Given the description of an element on the screen output the (x, y) to click on. 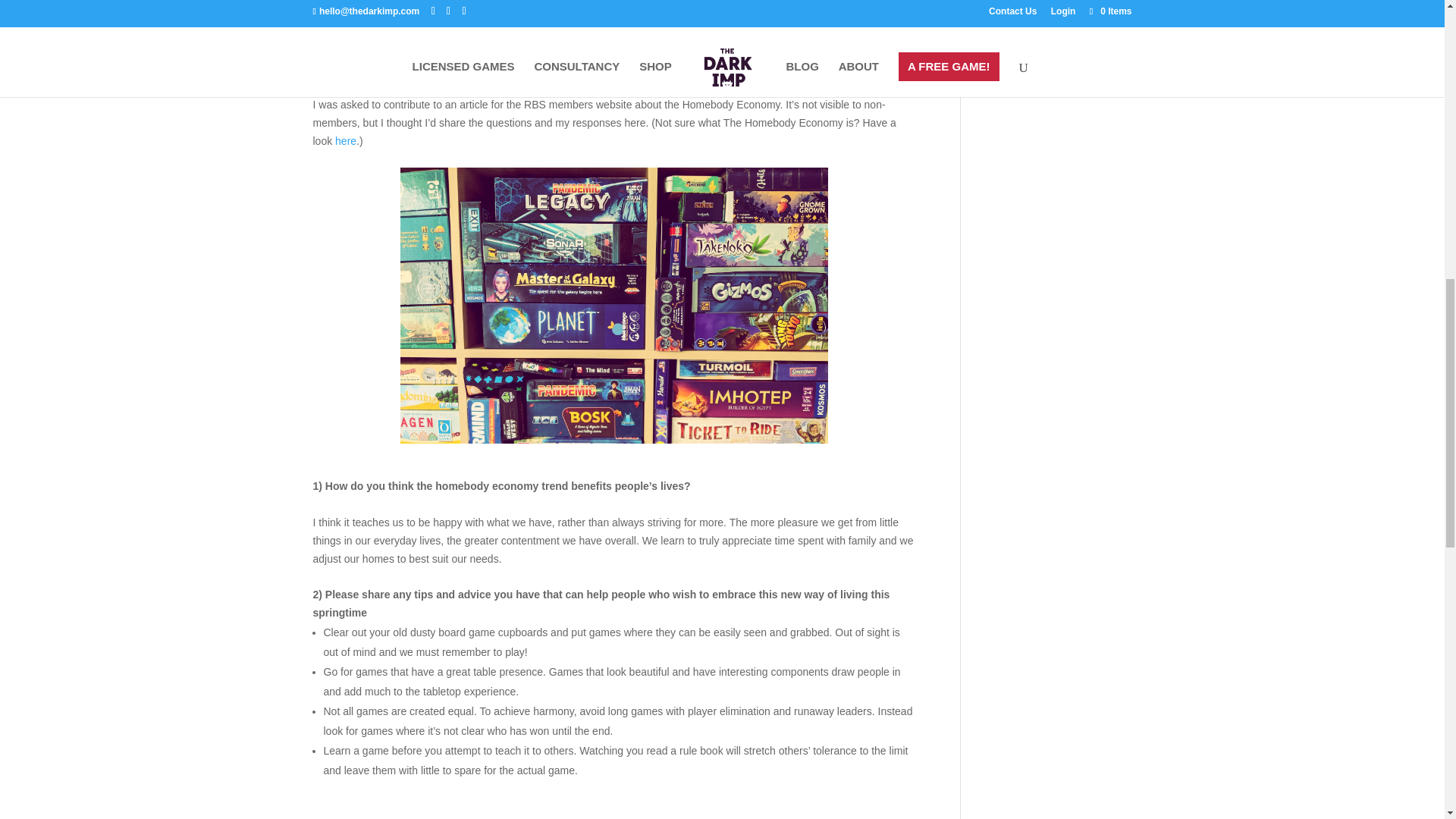
Gameshelf (614, 305)
Read the full article (394, 7)
here (345, 141)
